Given the description of an element on the screen output the (x, y) to click on. 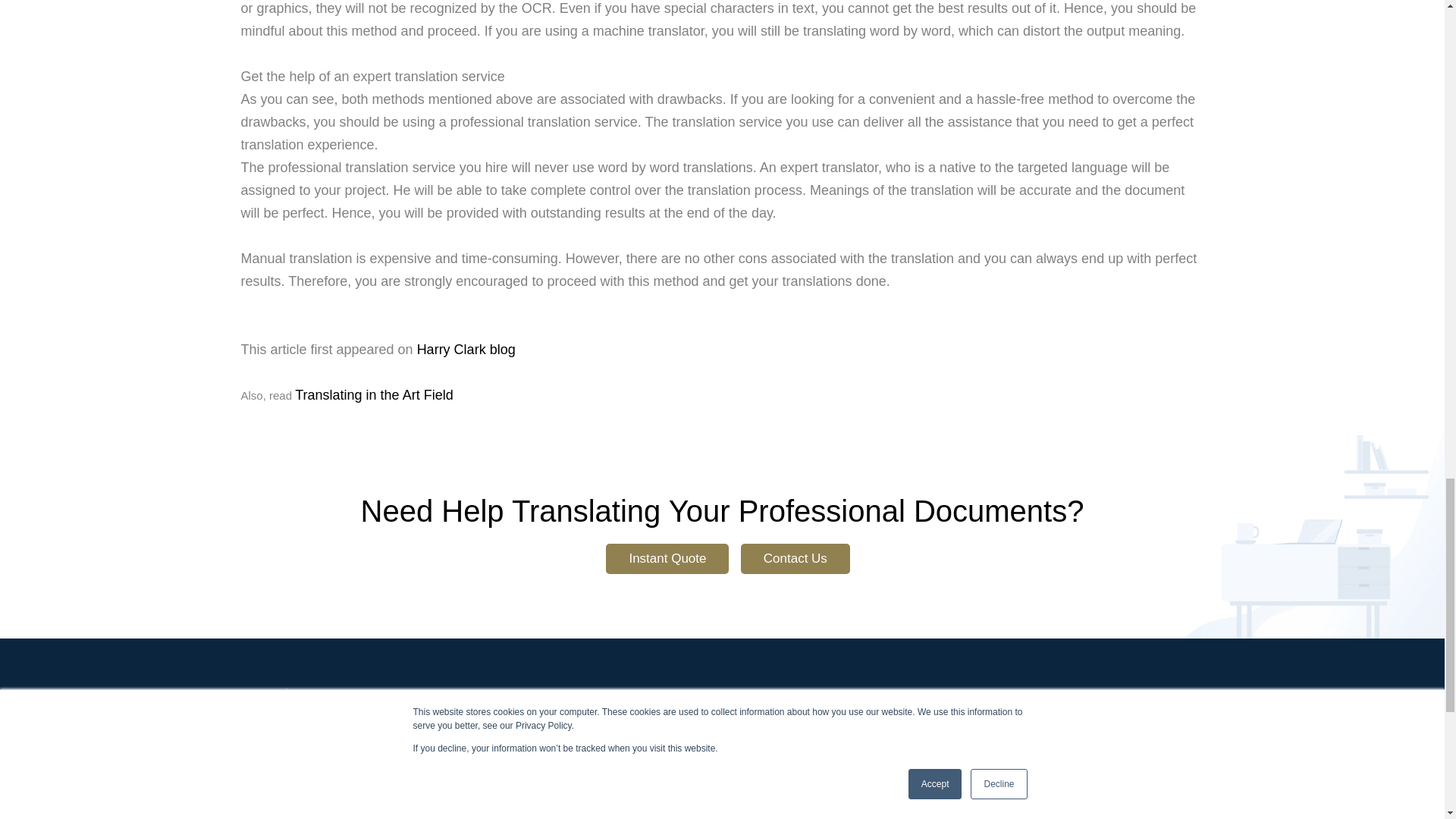
Legal Translation Services (804, 763)
Who Are We? (606, 763)
Other Services (609, 812)
Translation Services (624, 788)
Translating in the Art Field (373, 394)
Instant Quote (667, 558)
Harry Clark blog (465, 349)
Contact Us (795, 558)
